Given the description of an element on the screen output the (x, y) to click on. 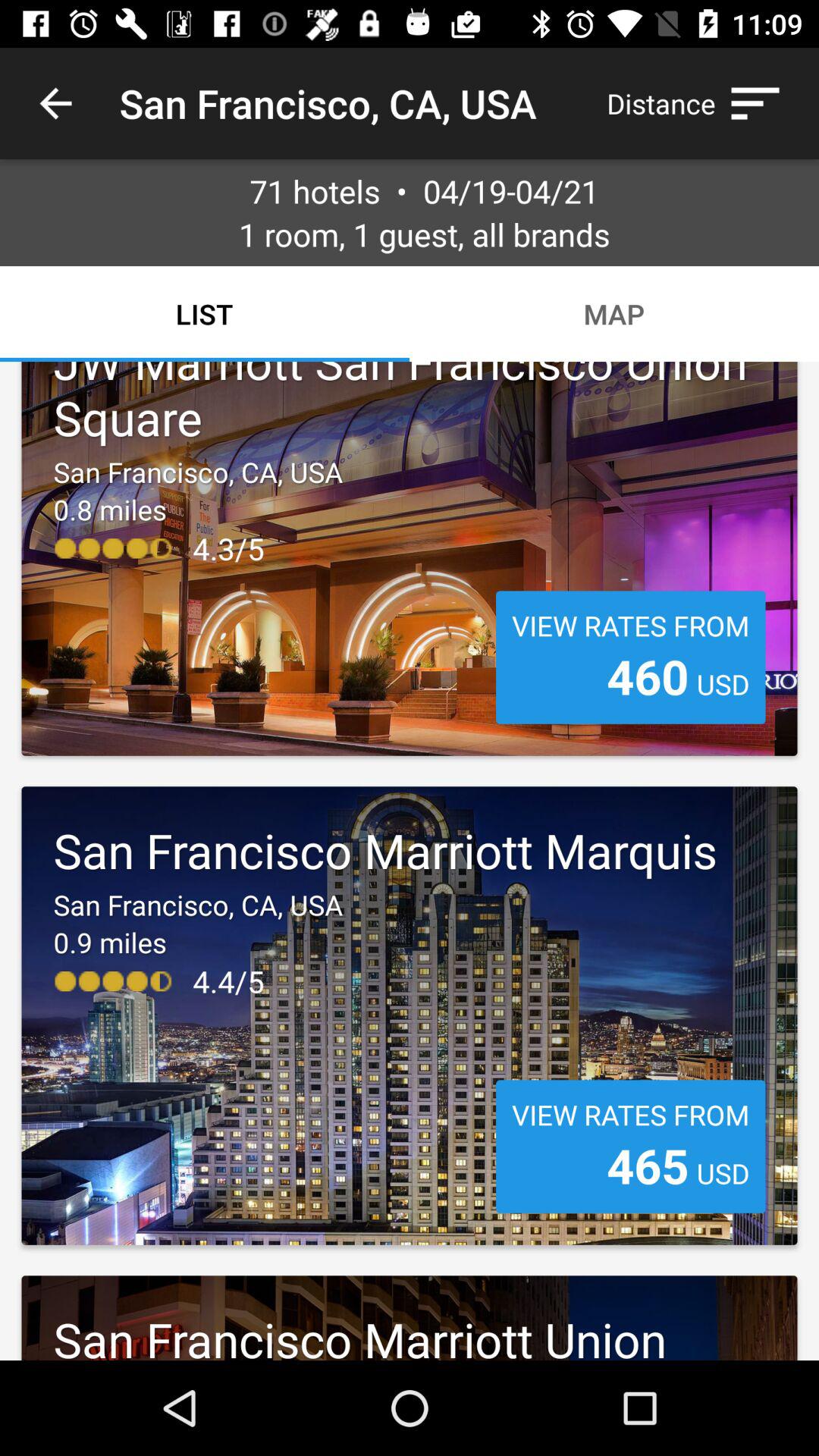
launch the icon to the left of san francisco ca icon (55, 103)
